Given the description of an element on the screen output the (x, y) to click on. 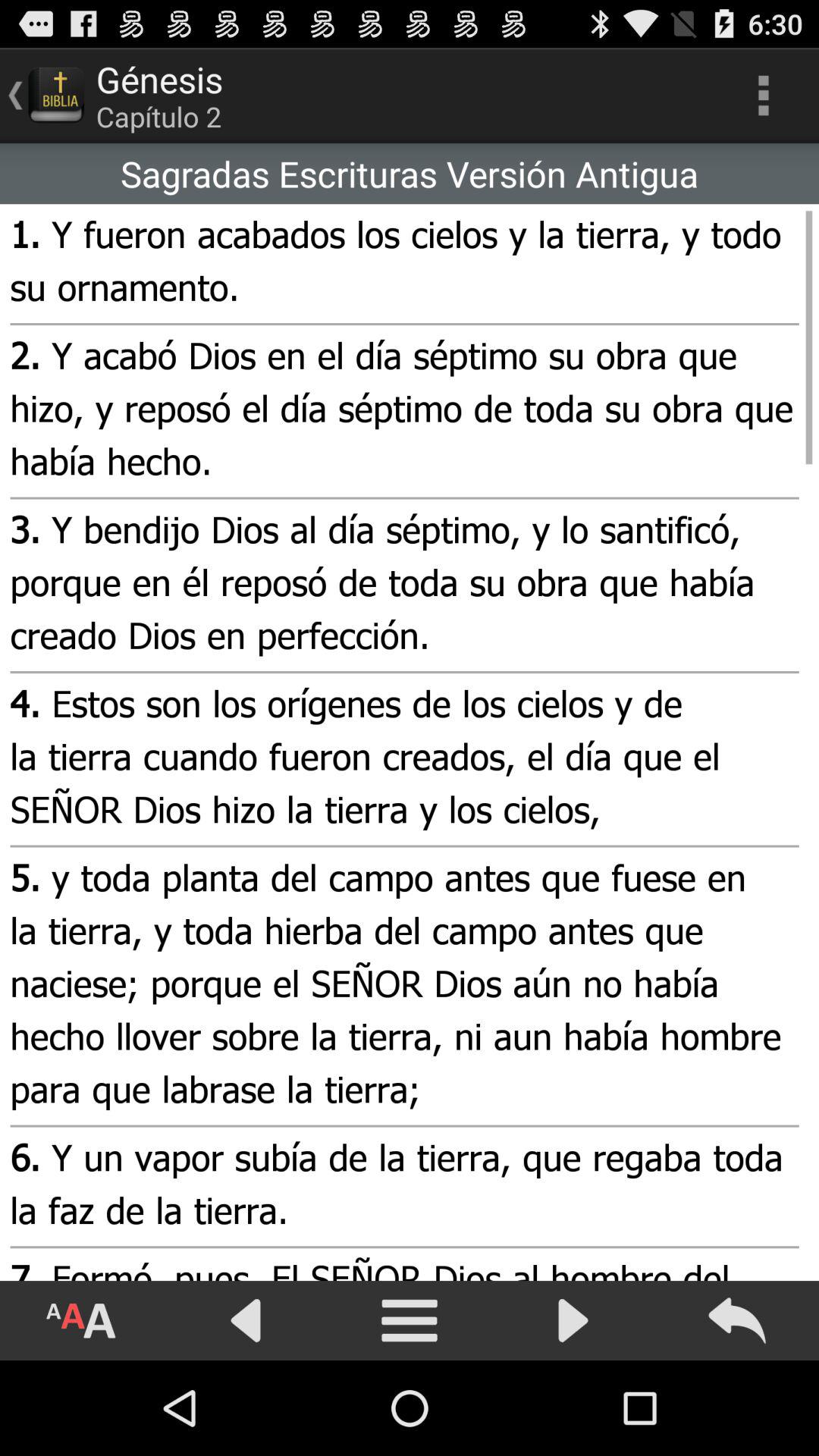
choose the item below 3 y bendijo icon (402, 759)
